Given the description of an element on the screen output the (x, y) to click on. 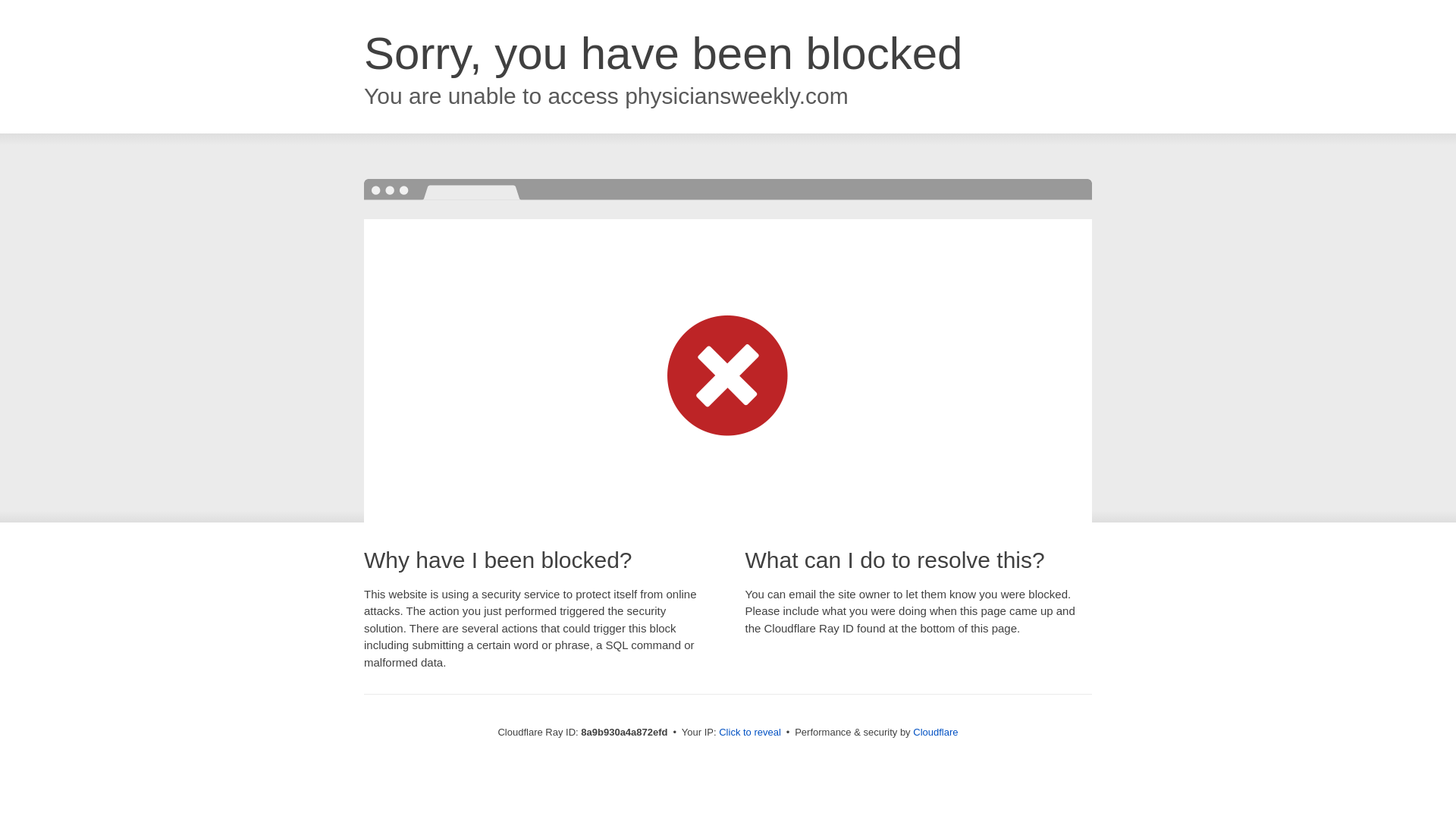
Cloudflare (935, 731)
Click to reveal (749, 732)
